Given the description of an element on the screen output the (x, y) to click on. 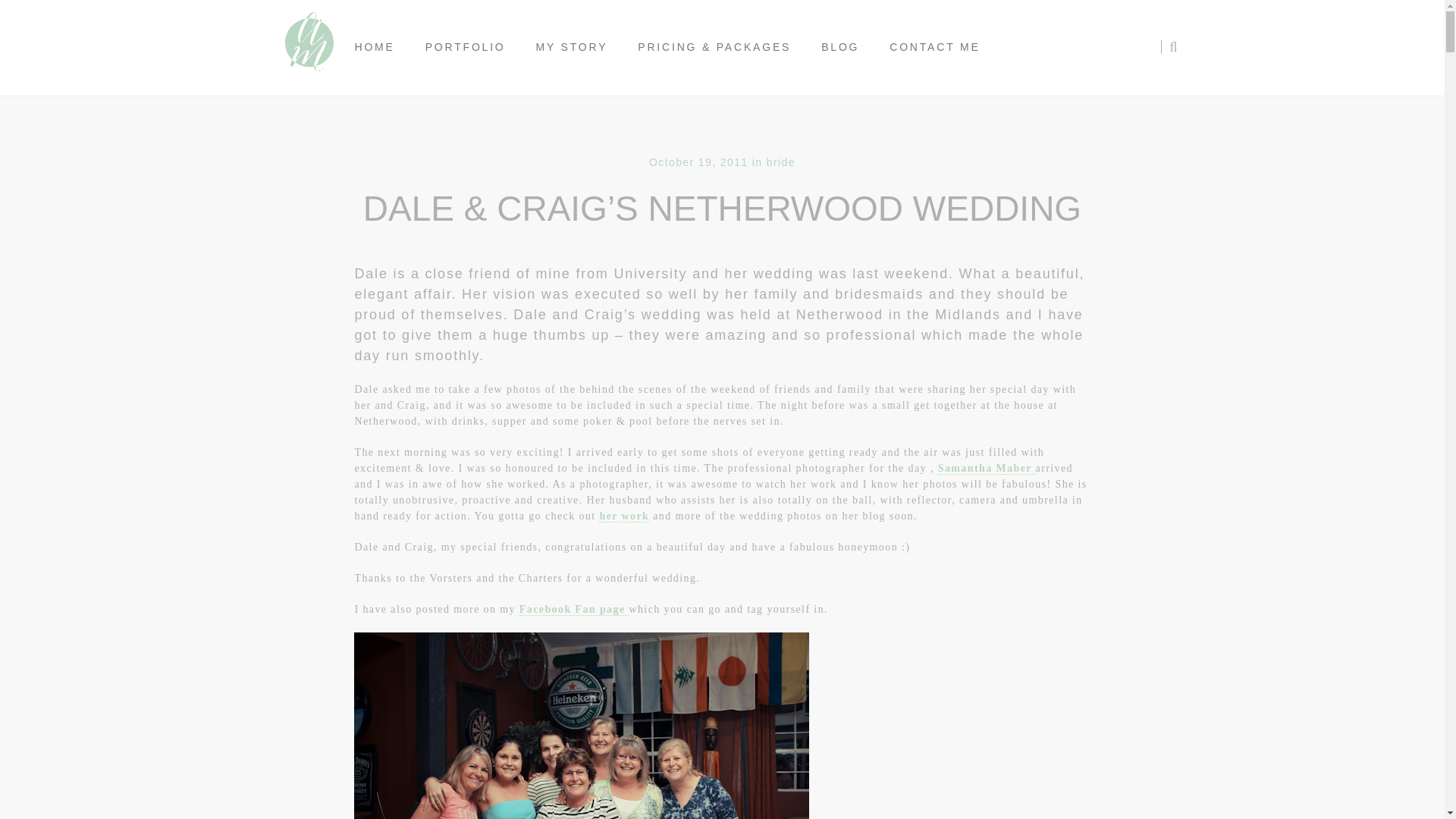
Contact Me (934, 47)
Facebook Fan page (573, 609)
PORTFOLIO (465, 47)
Daleblog-1 (581, 725)
Samantha Maber (986, 468)
My Story (572, 47)
MY STORY (572, 47)
CONTACT ME (934, 47)
Portfolio (465, 47)
her work (623, 516)
